Given the description of an element on the screen output the (x, y) to click on. 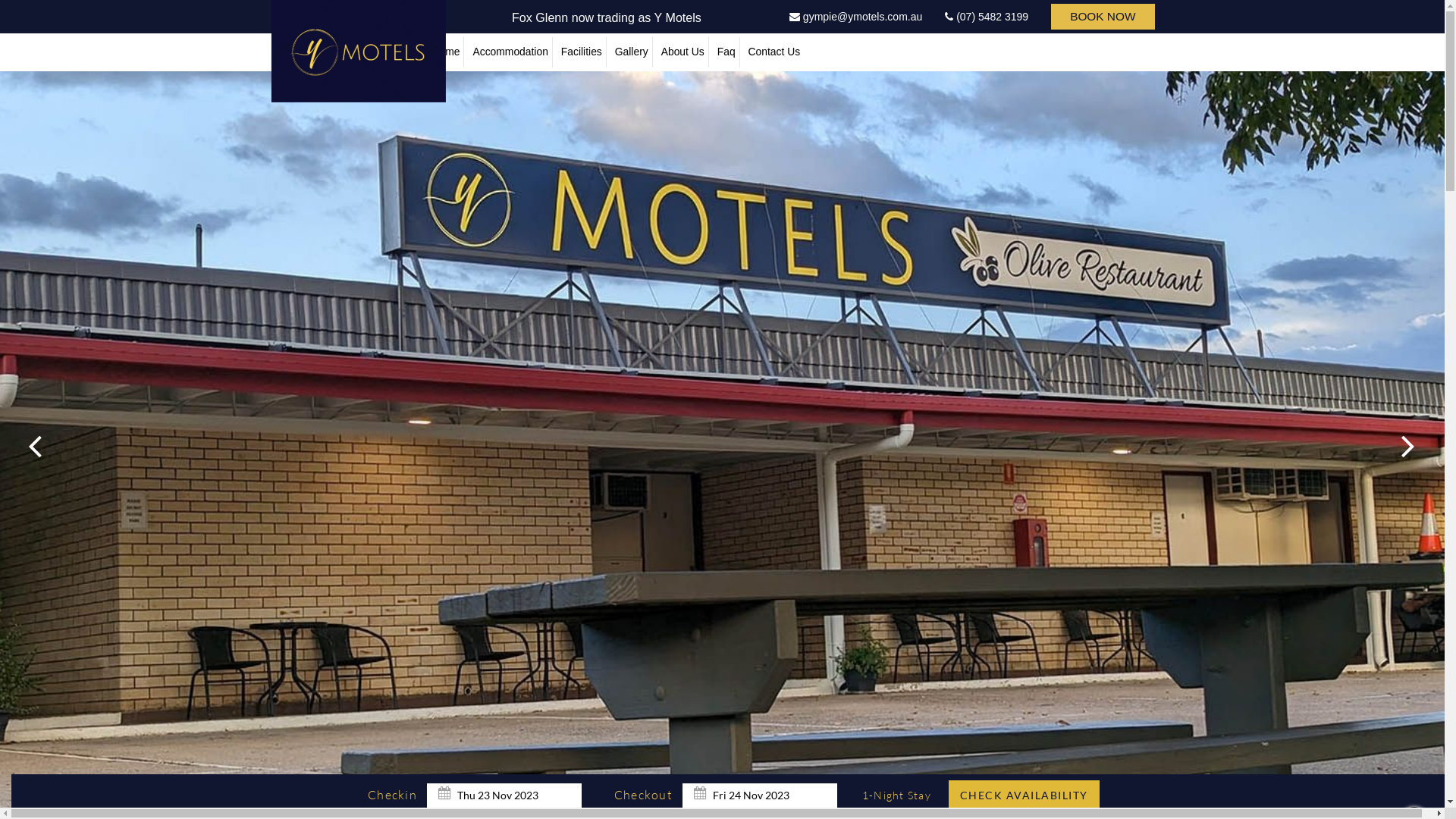
Gallery Element type: text (631, 52)
 gympie@ymotels.com.au Element type: text (855, 16)
Home Element type: text (445, 52)
BOOK NOW Element type: text (1102, 16)
Fox Glenn now trading as Y Motels Element type: text (606, 17)
Update Element type: text (770, 421)
CHECK AVAILABILITY Element type: text (1023, 795)
Faq Element type: text (726, 52)
Facilities Element type: text (581, 52)
Save Element type: text (763, 421)
Contact Us Element type: text (774, 52)
Accommodation Element type: text (510, 52)
About Us Element type: text (683, 52)
 (07) 5482 3199 Element type: text (986, 16)
